Given the description of an element on the screen output the (x, y) to click on. 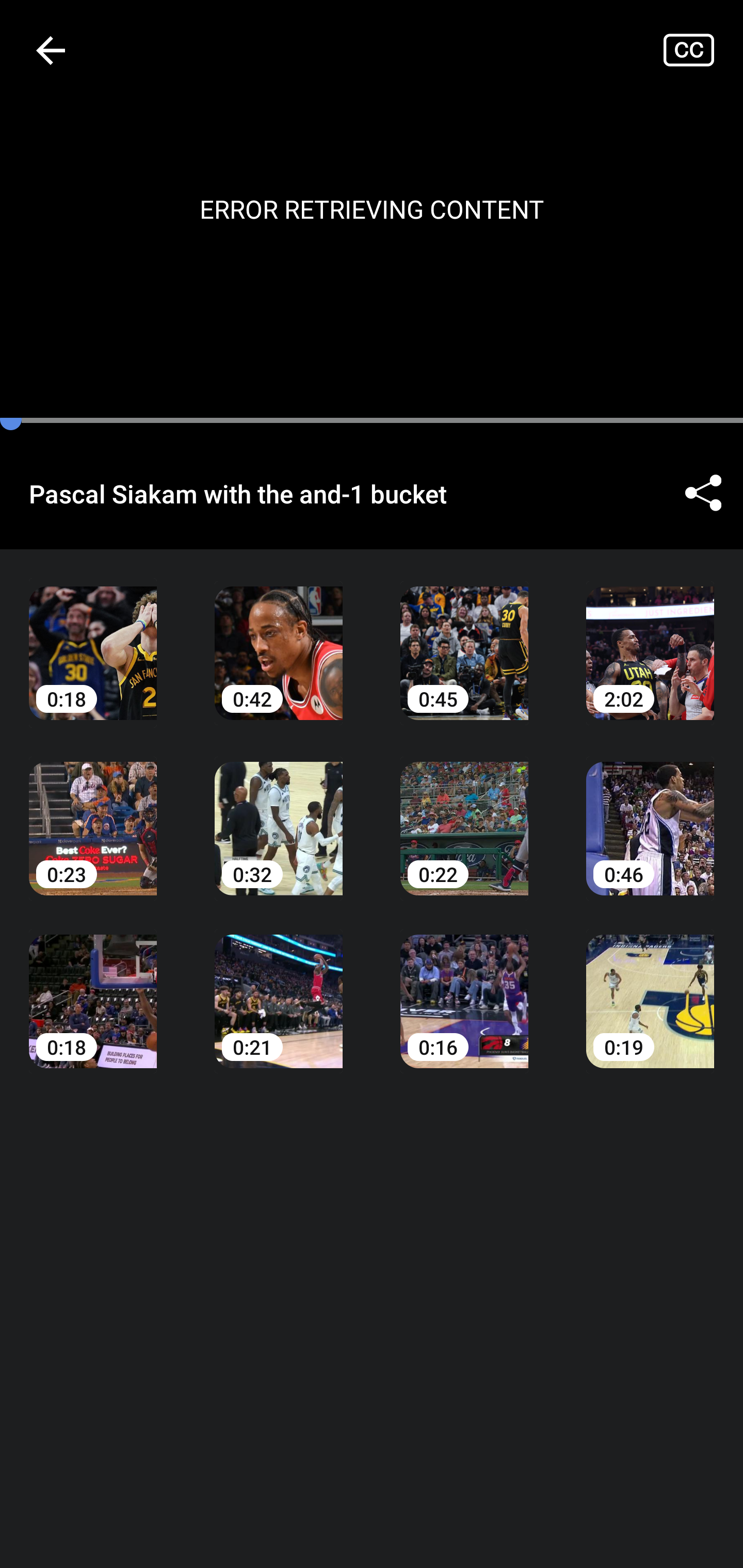
Navigate up (50, 50)
Closed captions  (703, 49)
Share © (703, 493)
0:18 (92, 637)
0:42 (278, 637)
0:45 (464, 637)
2:02 (650, 637)
0:23 (92, 813)
0:32 (278, 813)
0:22 (464, 813)
0:46 (650, 813)
0:18 (92, 987)
0:21 (278, 987)
0:16 (464, 987)
0:19 (650, 987)
